Given the description of an element on the screen output the (x, y) to click on. 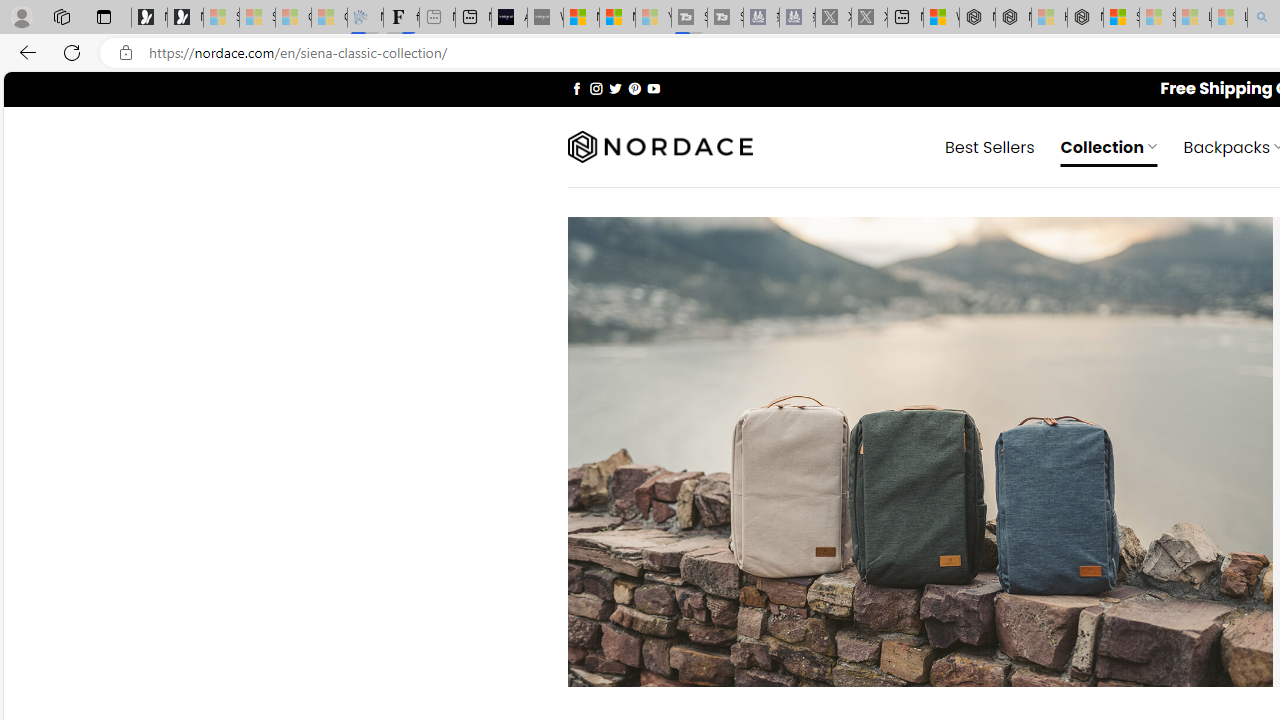
What's the best AI voice generator? - voice.ai - Sleeping (545, 17)
Follow on YouTube (653, 88)
X - Sleeping (869, 17)
Follow on Instagram (596, 88)
